Given the description of an element on the screen output the (x, y) to click on. 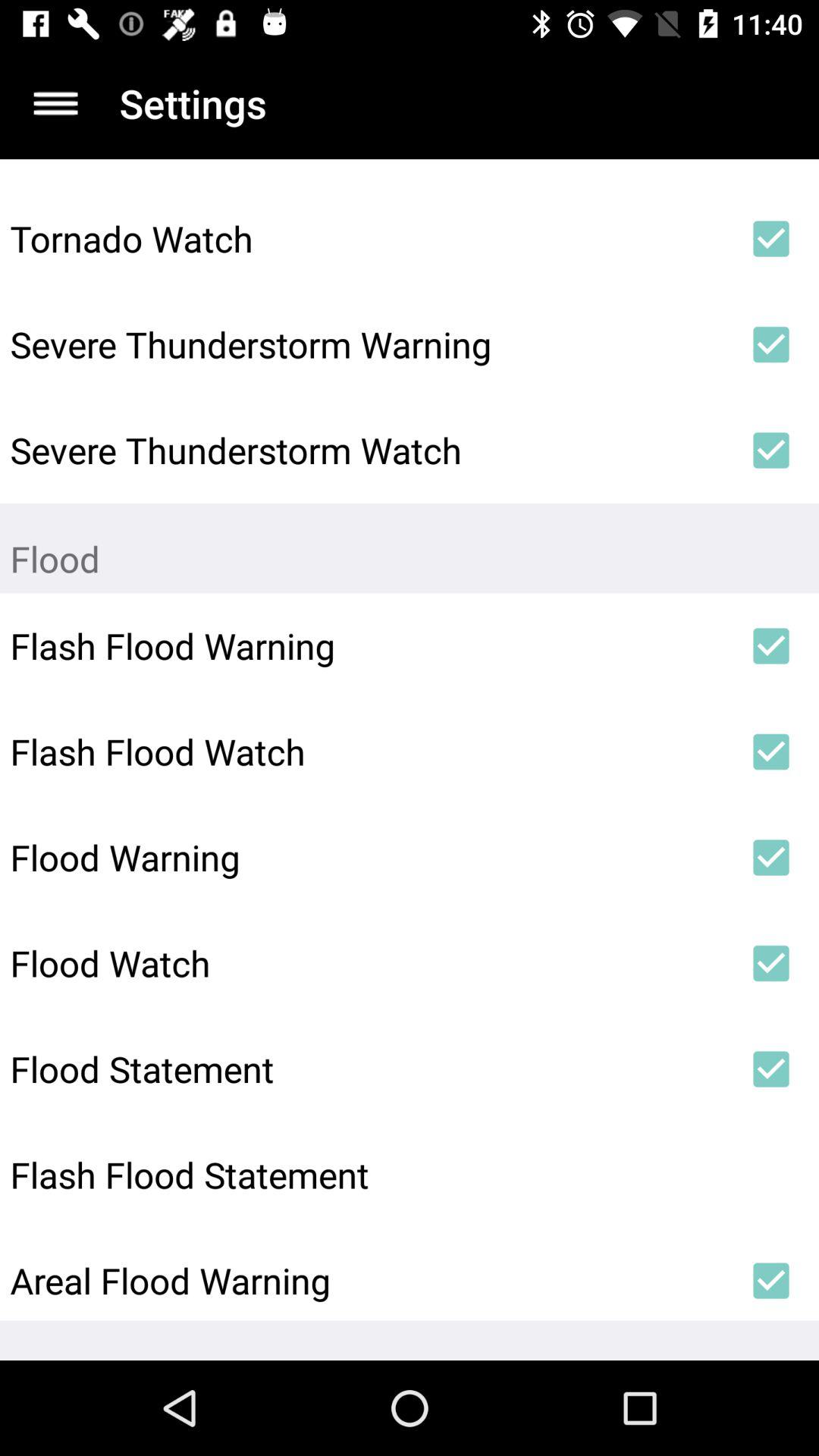
launch the item above the severe thunderstorm warning item (366, 238)
